Given the description of an element on the screen output the (x, y) to click on. 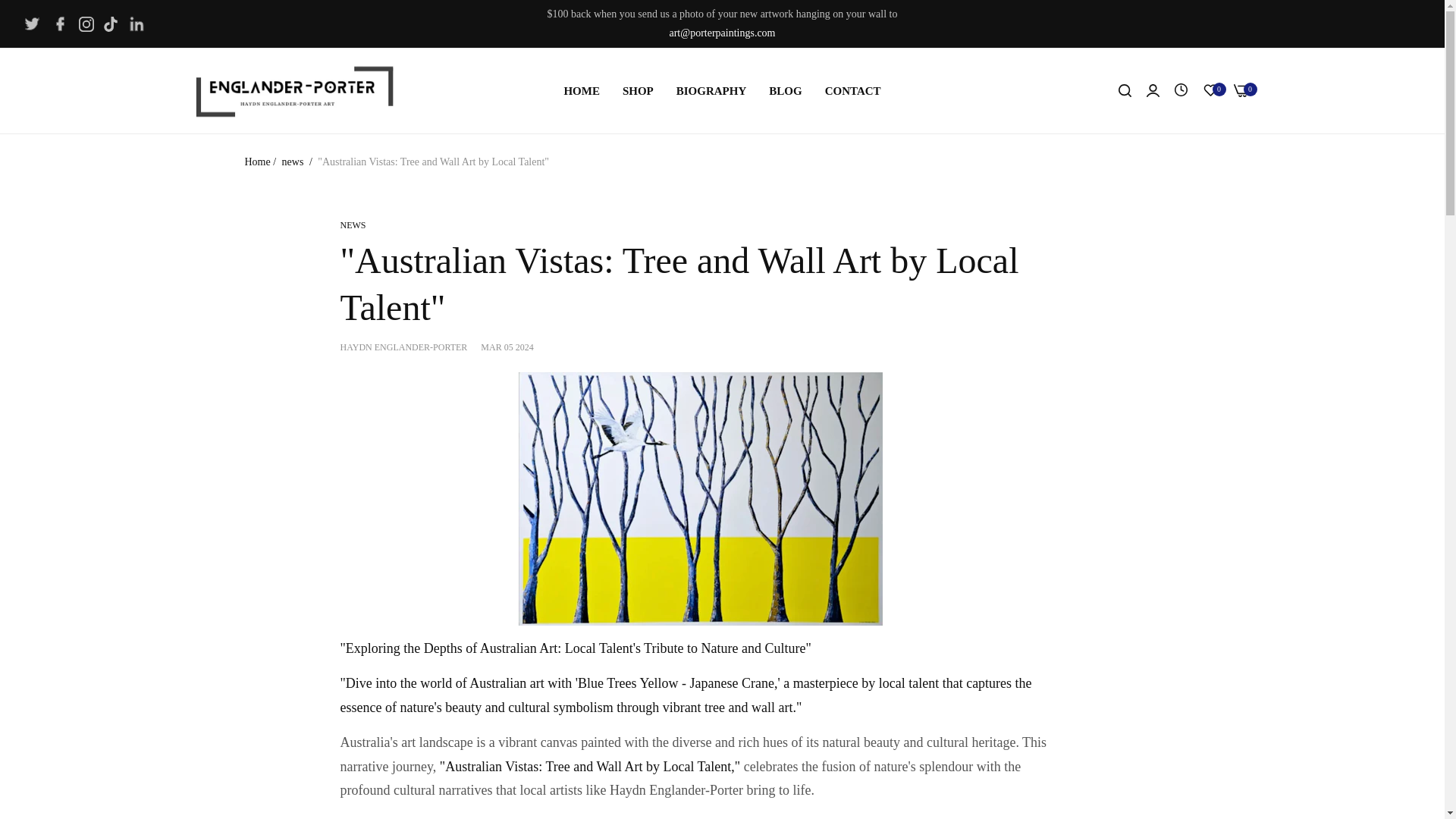
0 (1210, 90)
Home (256, 161)
SHOP (638, 90)
BLOG (784, 90)
BIOGRAPHY (711, 90)
"Australian Vistas: Tree and Wall Art by Local Talent," (589, 766)
0 (1241, 90)
CONTACT (852, 90)
Englander-Porter  (293, 90)
NEWS (352, 225)
